Given the description of an element on the screen output the (x, y) to click on. 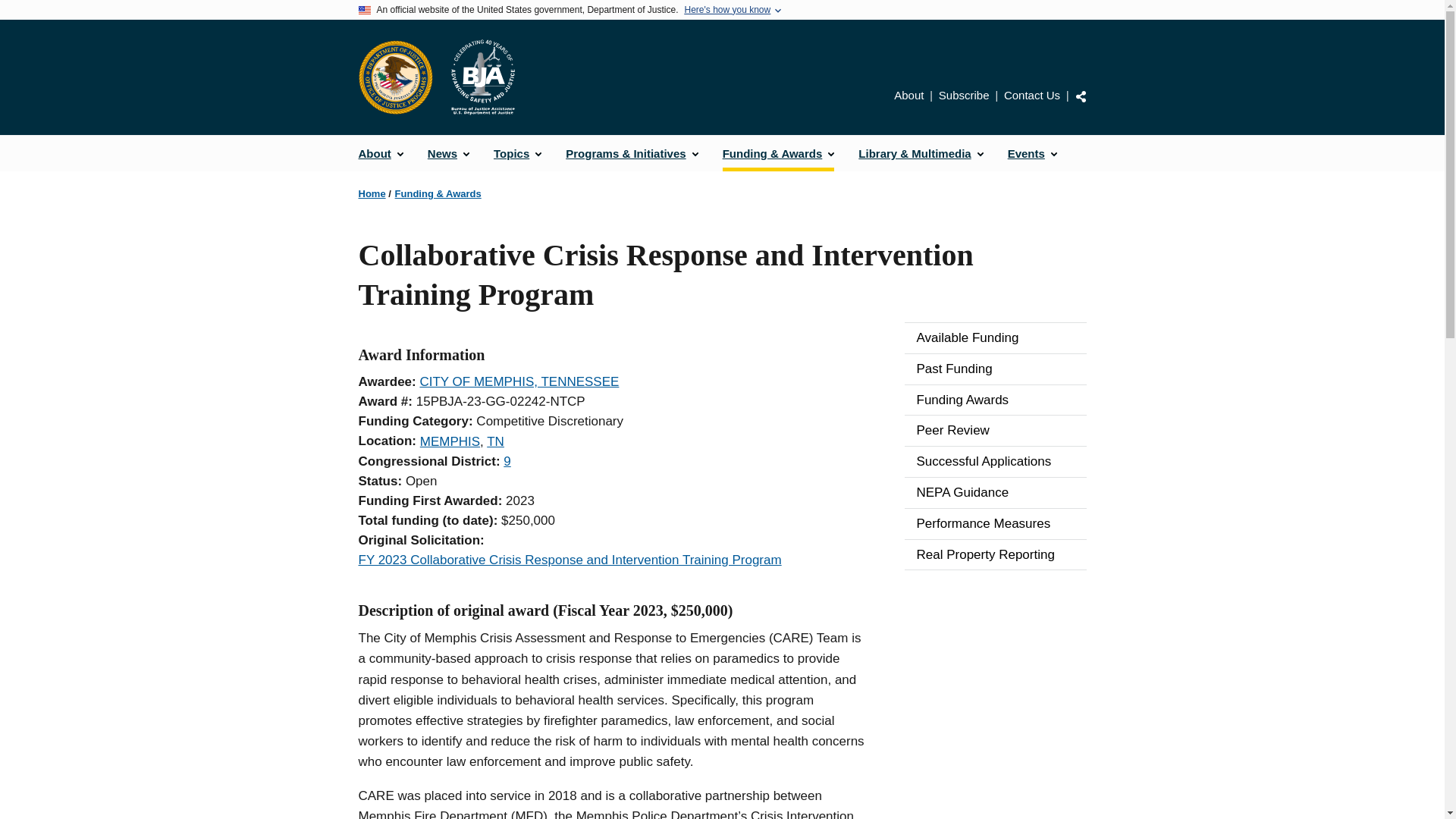
Real Property Reporting (995, 554)
About (908, 94)
Office of Justice Programs (395, 77)
Home (371, 193)
News (447, 153)
Subscribe (964, 94)
About (380, 153)
Successful Applications (995, 461)
Past Funding (995, 368)
TN (494, 441)
Here's how you know (727, 9)
Performance Measures (995, 523)
MEMPHIS (450, 441)
Home (481, 77)
